Given the description of an element on the screen output the (x, y) to click on. 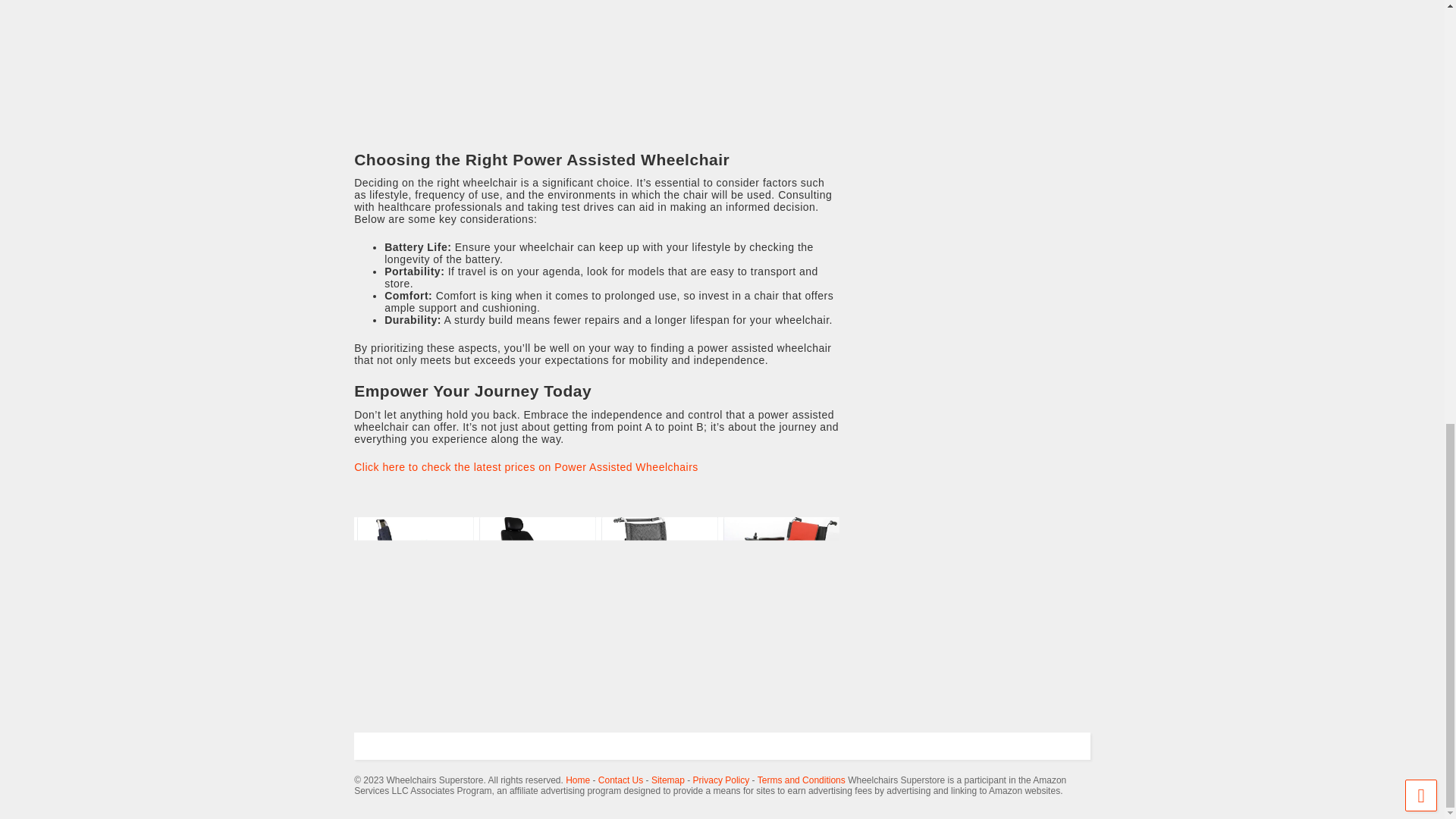
Terms and Conditions (801, 779)
Privacy Policy (721, 779)
Sitemap (667, 779)
Home (577, 779)
Contact Us (620, 779)
